Given the description of an element on the screen output the (x, y) to click on. 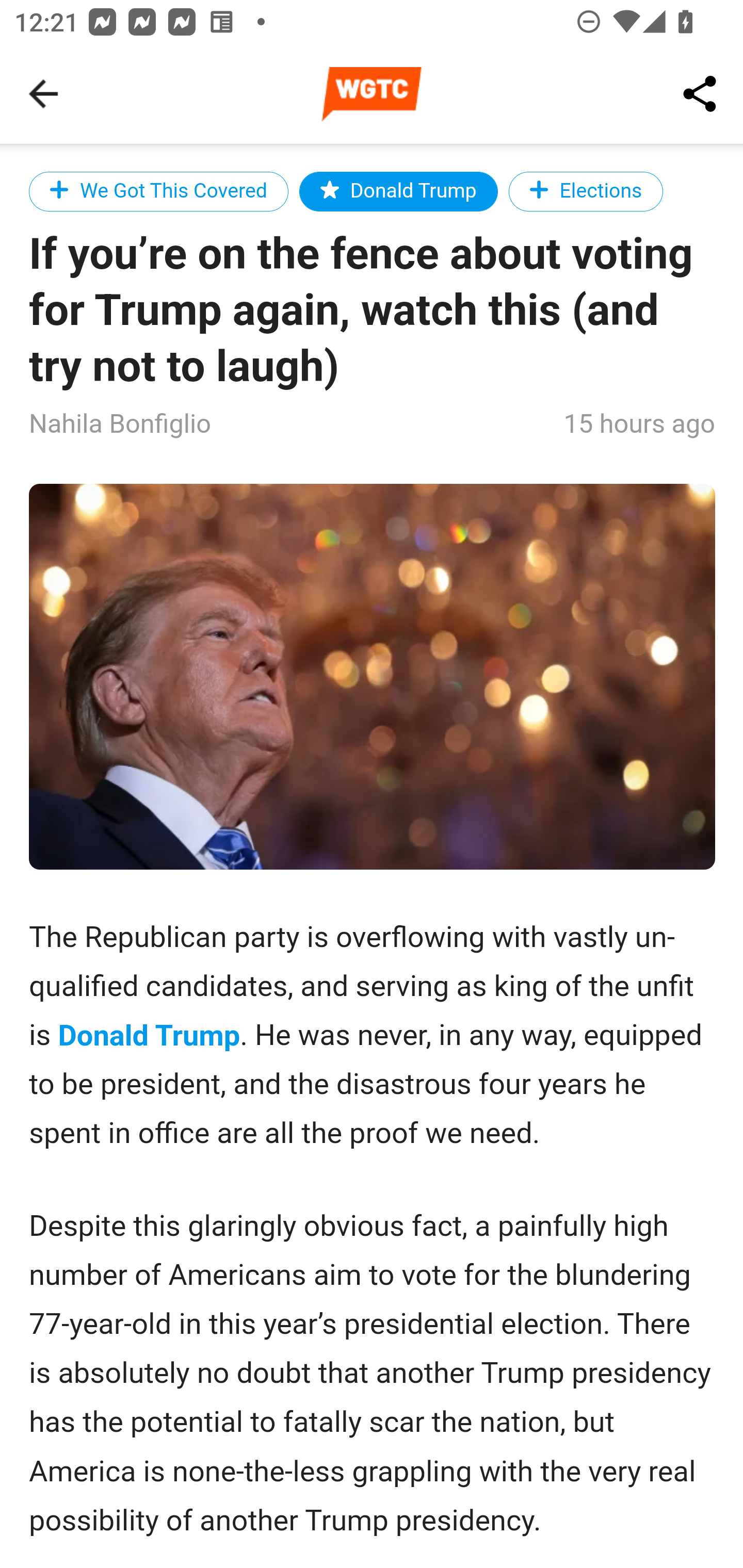
We Got This Covered (158, 191)
Donald Trump (397, 191)
Elections (585, 191)
Donald Trump (149, 1035)
